Given the description of an element on the screen output the (x, y) to click on. 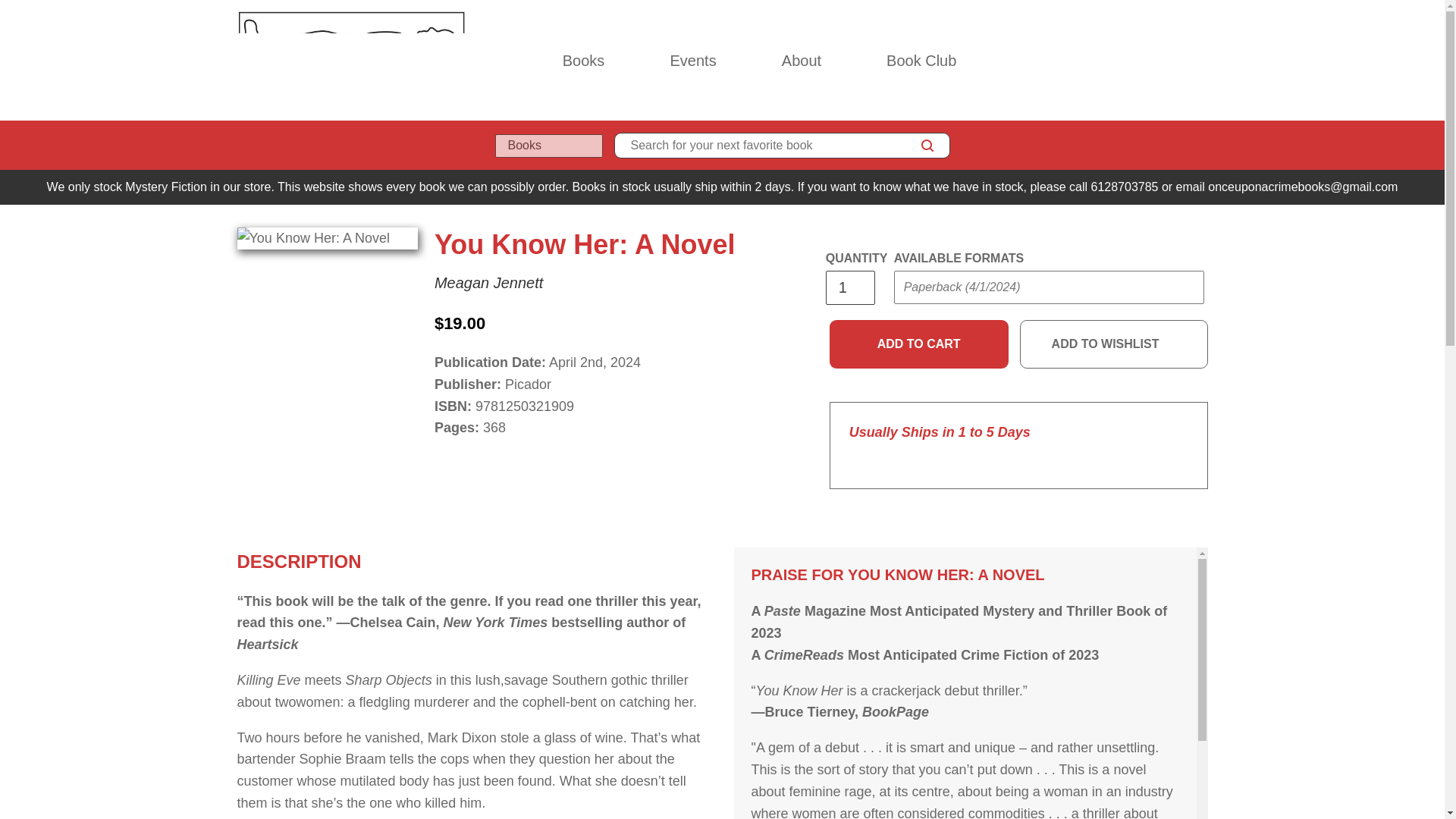
Log in (1134, 60)
Add to cart (919, 344)
Log in (1134, 60)
Meagan Jennett (488, 282)
Add to cart (919, 344)
Wishlist (1168, 60)
Books (583, 60)
Cart (1201, 60)
Cart (1201, 60)
